Given the description of an element on the screen output the (x, y) to click on. 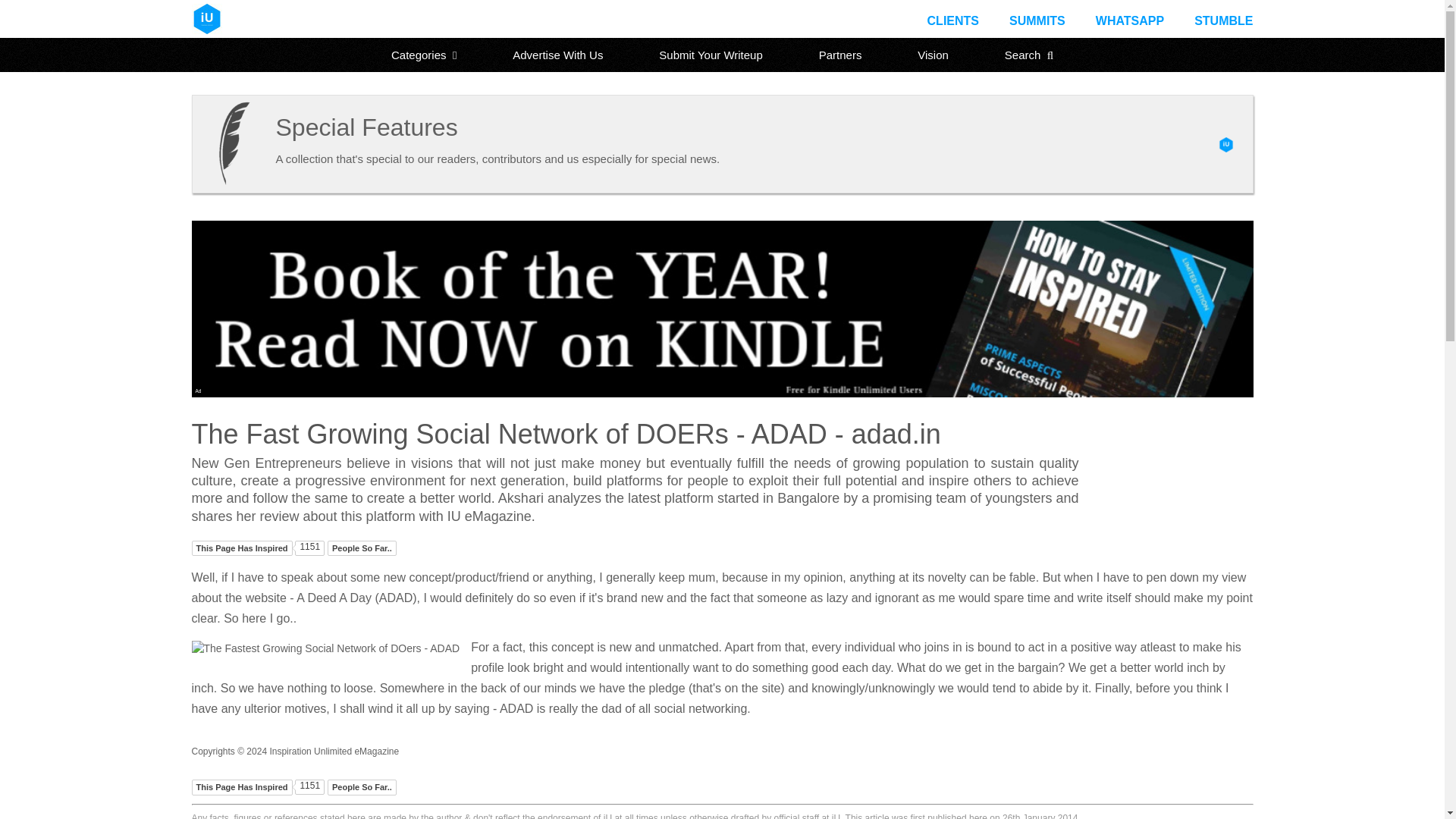
Partners (840, 55)
Submit Your Writeup (710, 55)
Categories   (424, 54)
CLIENTS (952, 20)
SUMMITS (1037, 20)
STUMBLE (1222, 20)
WHATSAPP (1129, 20)
Search   (1029, 55)
Advertise With Us (557, 55)
Vision (933, 55)
